Given the description of an element on the screen output the (x, y) to click on. 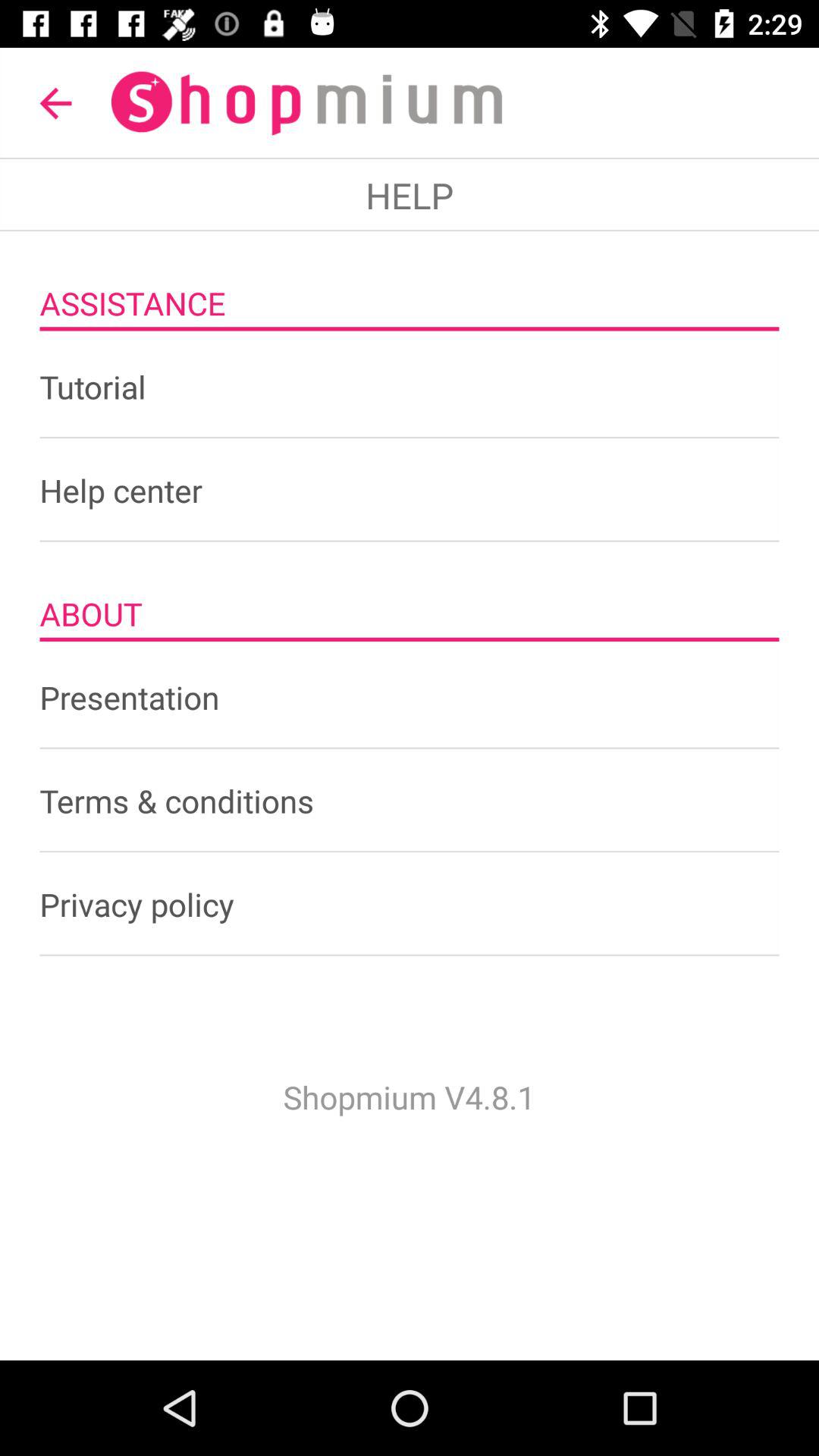
open item above help (55, 103)
